Given the description of an element on the screen output the (x, y) to click on. 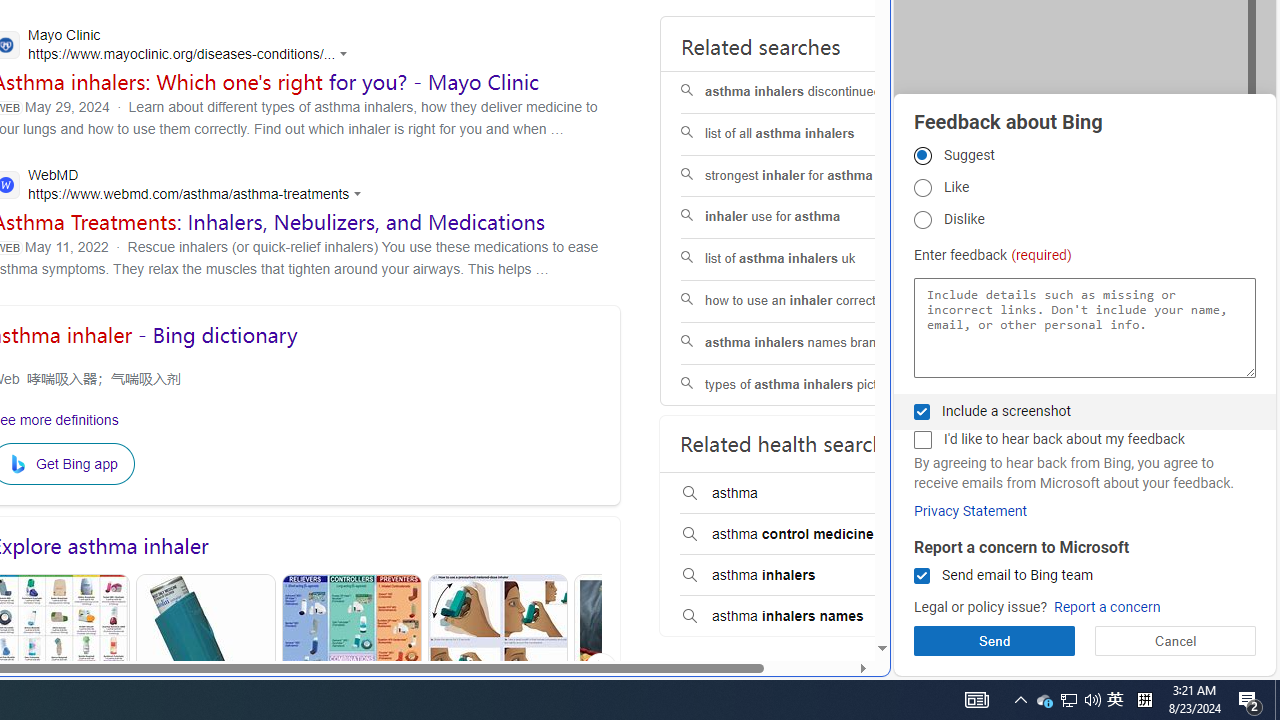
To get missing image descriptions, open the context menu. (21, 463)
Suggest (922, 155)
Like (922, 188)
asthma inhalers names brands (807, 343)
asthma control medicine (807, 534)
Actions for this site (360, 193)
AutomationID: mfa_root (806, 588)
strongest inhaler for asthma (807, 176)
inhaler use for asthma (807, 218)
Send (994, 640)
strongest inhaler for asthma (807, 175)
Privacy Statement (970, 511)
how to use an inhaler correctly (807, 301)
asthma (807, 493)
